Given the description of an element on the screen output the (x, y) to click on. 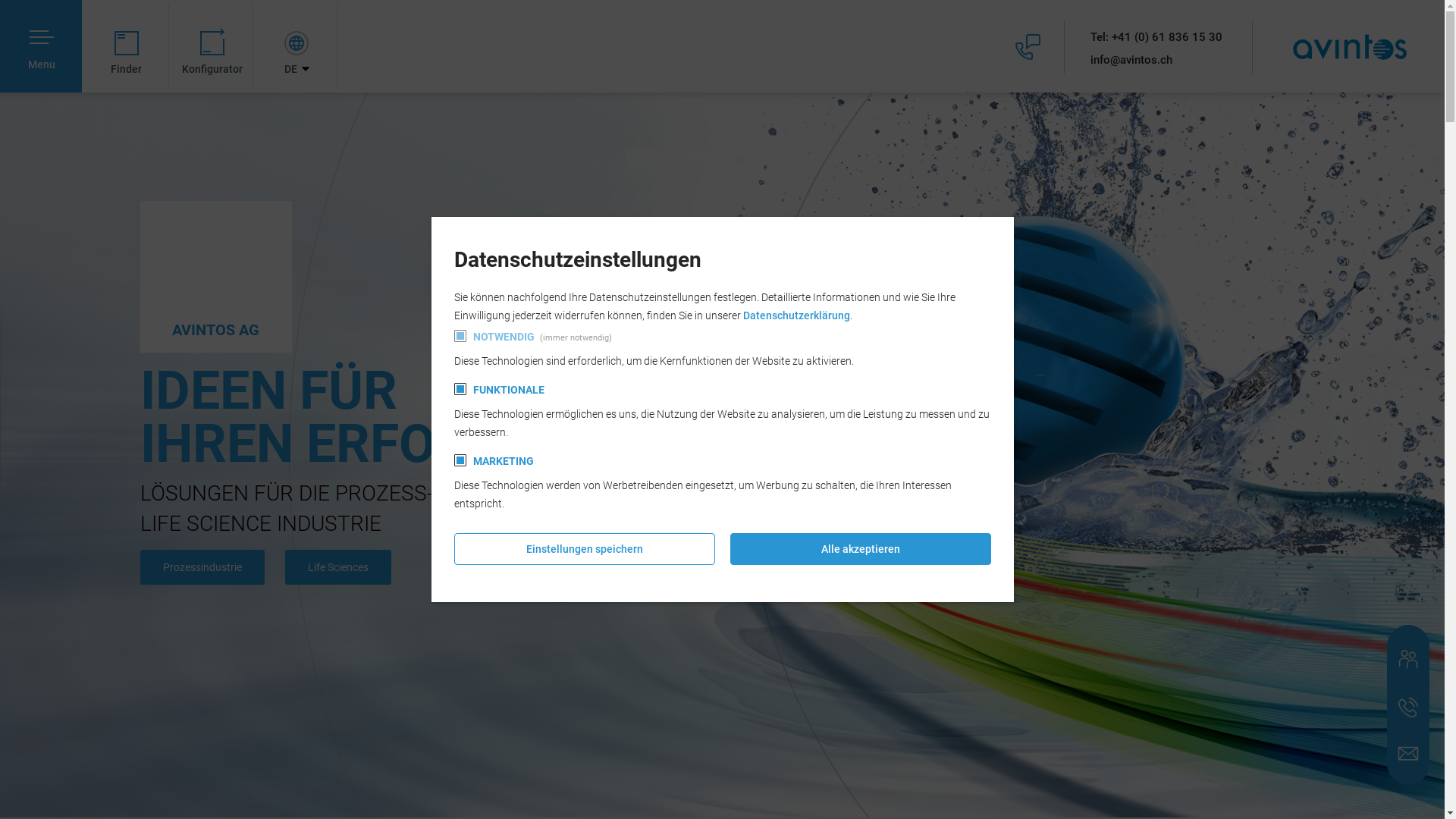
Life Sciences Element type: text (338, 566)
Alle akzeptieren Element type: text (859, 549)
info@avintos.ch Element type: text (1156, 59)
Tel: +41 (0) 61 836 15 30 Element type: text (1156, 36)
Finder Element type: text (126, 45)
Prozessindustrie Element type: text (201, 566)
Einstellungen speichern Element type: text (583, 549)
Konfigurator Element type: text (212, 45)
Call Us Element type: hover (1407, 707)
